Given the description of an element on the screen output the (x, y) to click on. 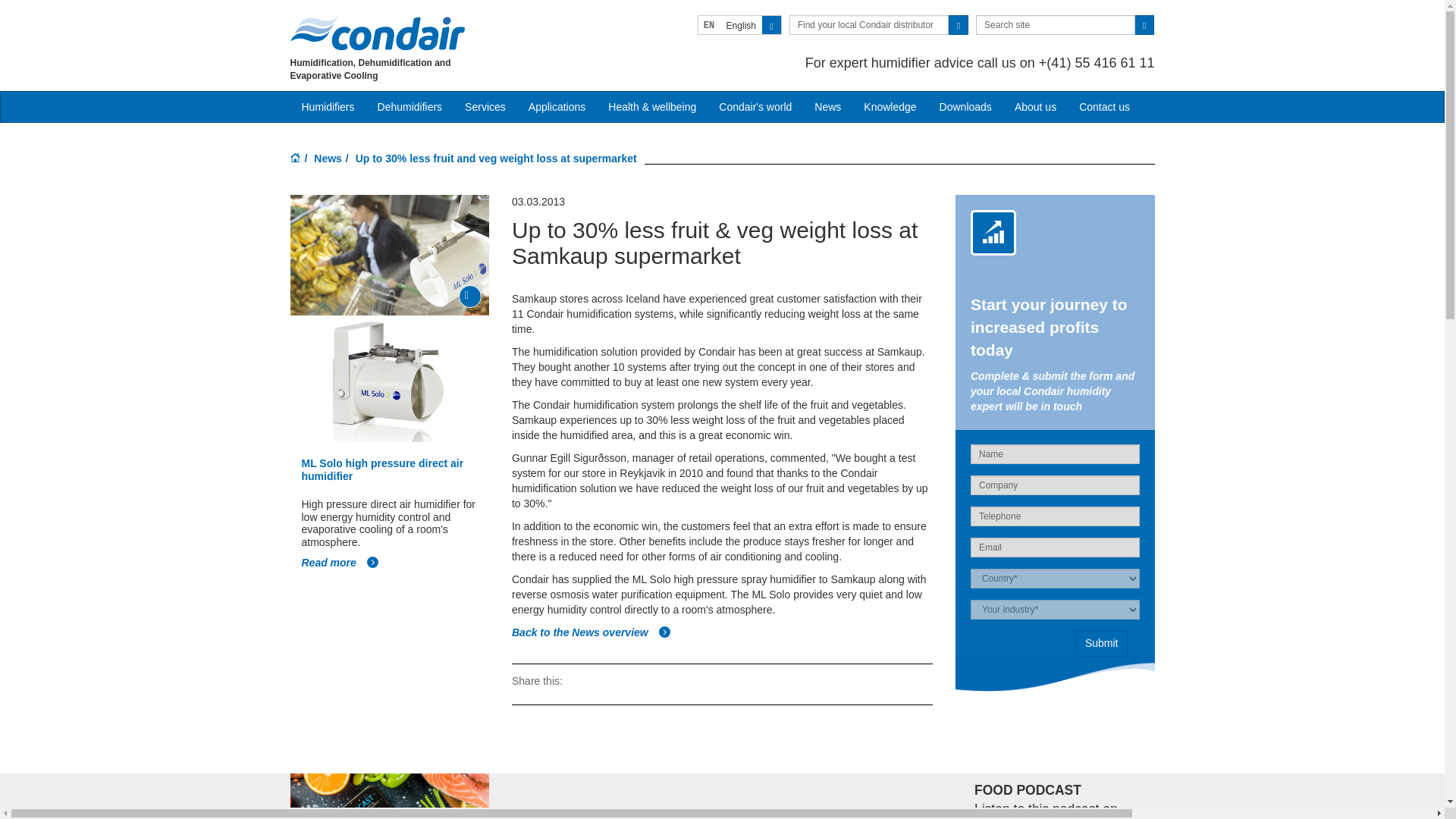
Condair (376, 32)
Applications (556, 106)
Humidifiers (327, 106)
Dehumidifiers (410, 106)
EN English (739, 25)
Services (484, 106)
Submit (1101, 643)
